Given the description of an element on the screen output the (x, y) to click on. 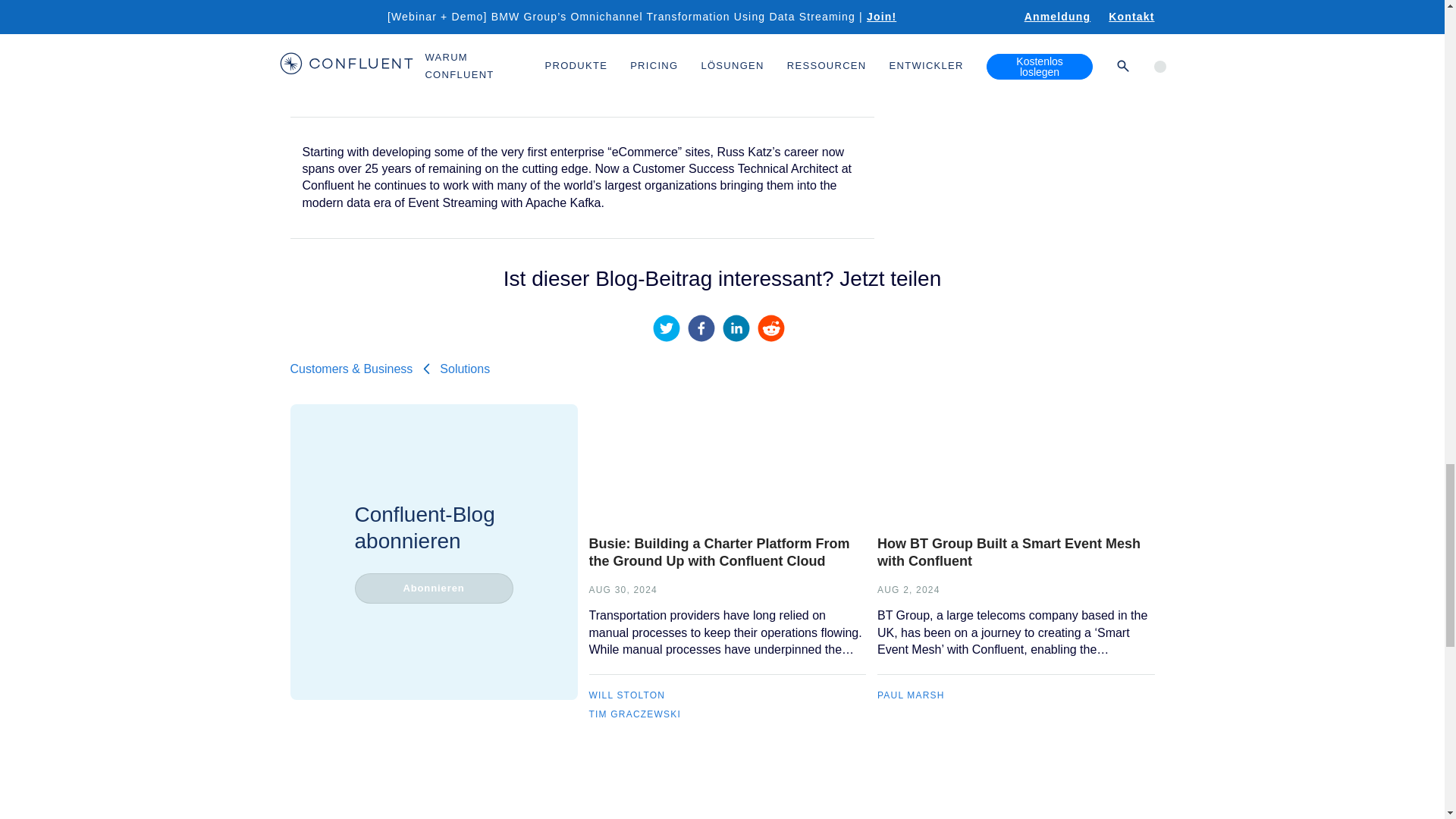
View all posts by Paul Marsh (910, 695)
View all posts by Will Stolton (626, 695)
View all posts by Tim Graczewski (633, 714)
